Given the description of an element on the screen output the (x, y) to click on. 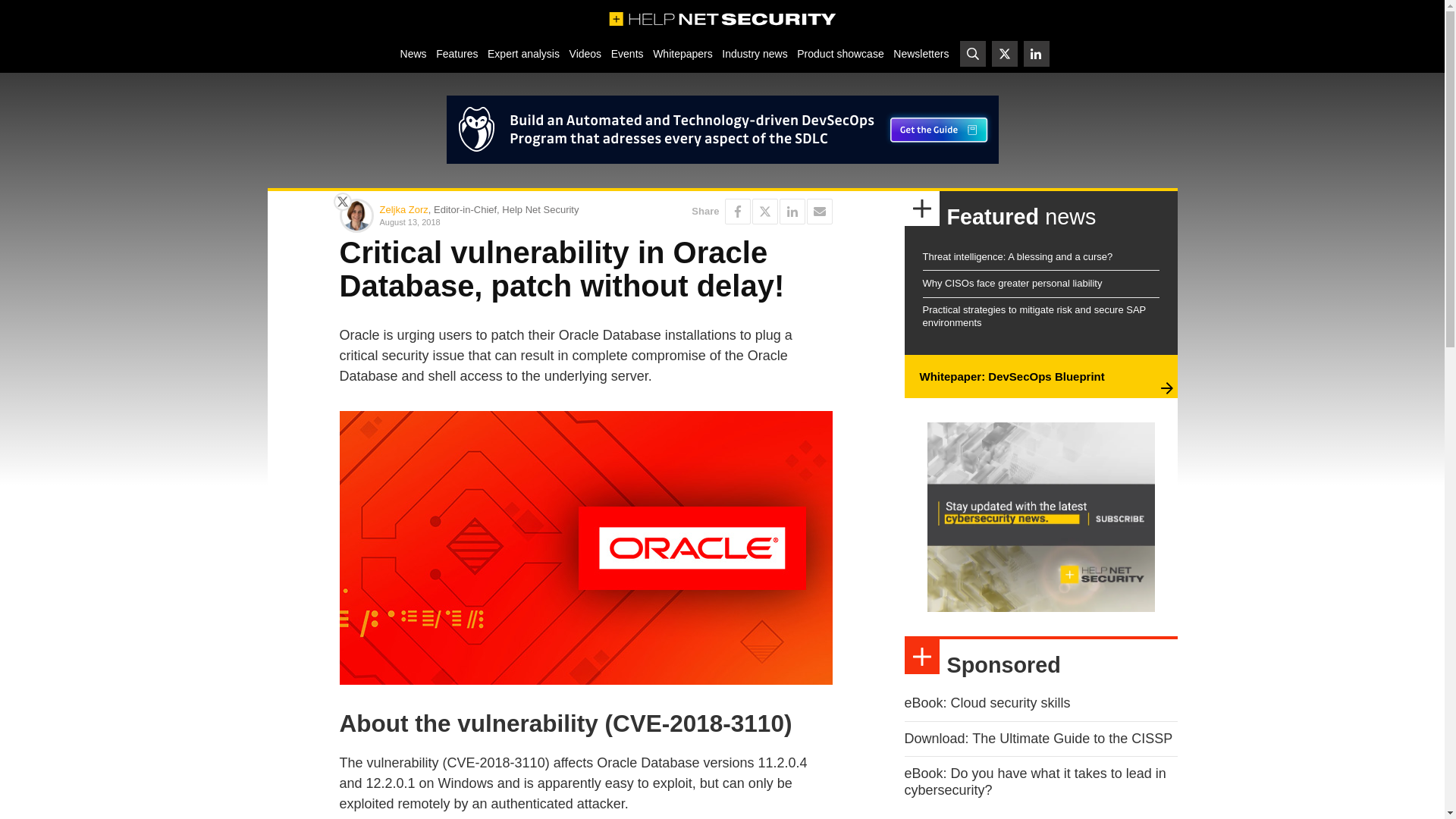
News (412, 53)
Industry news (754, 53)
Why CISOs face greater personal liability (1011, 283)
Newsletters (920, 53)
eBook: Cloud security skills (987, 702)
Features (456, 53)
Whitepaper: DevSecOps Blueprint (1010, 376)
Download: The Ultimate Guide to the CISSP (1038, 738)
Events (626, 53)
Threat intelligence: A blessing and a curse? (1016, 256)
